Given the description of an element on the screen output the (x, y) to click on. 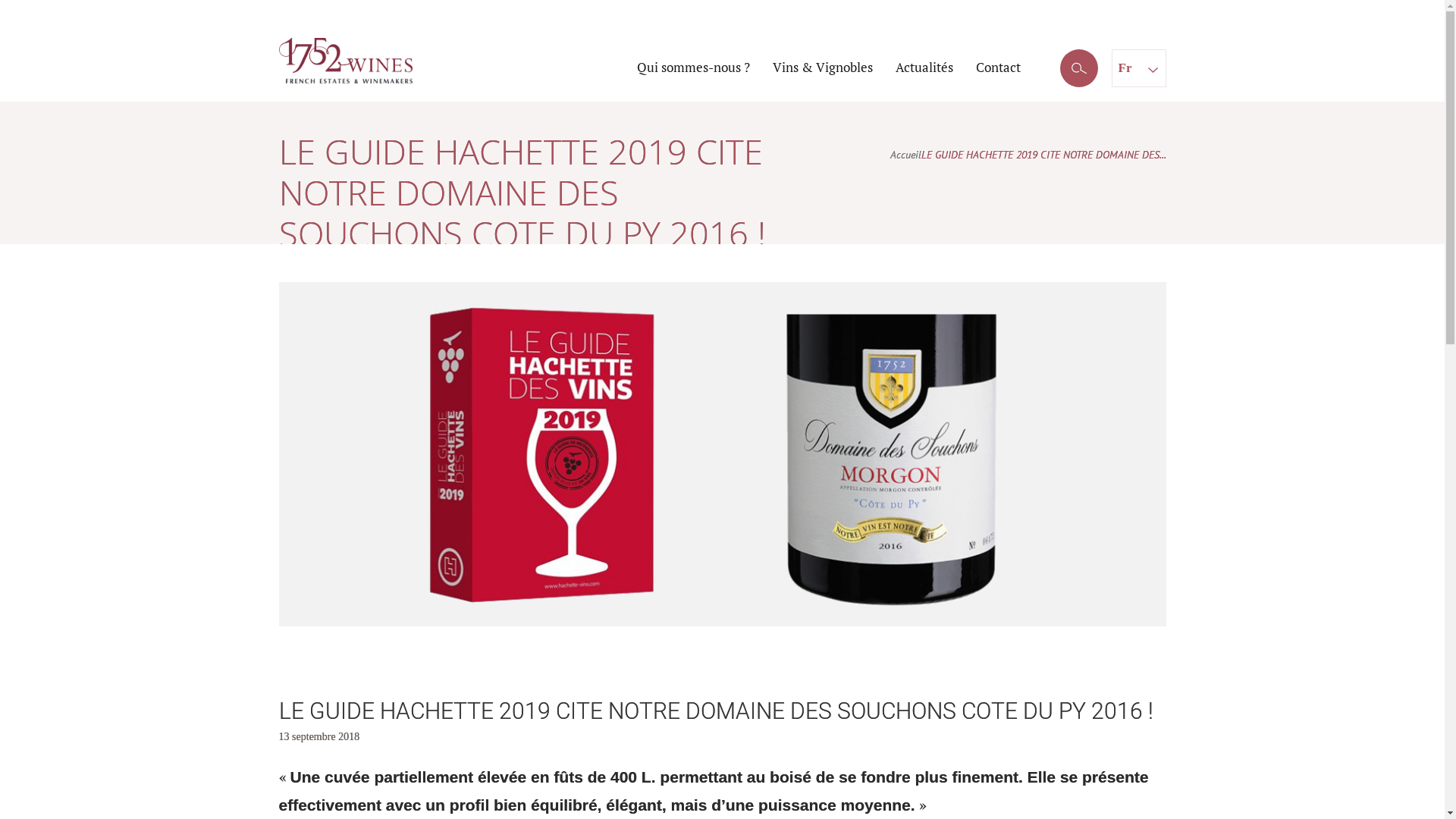
Fr Element type: text (1137, 67)
Qui sommes-nous ? Element type: text (693, 67)
Accueil Element type: text (905, 155)
Contact Element type: text (997, 67)
Vins & Vignobles Element type: text (821, 67)
Open search Element type: hover (1079, 68)
